Given the description of an element on the screen output the (x, y) to click on. 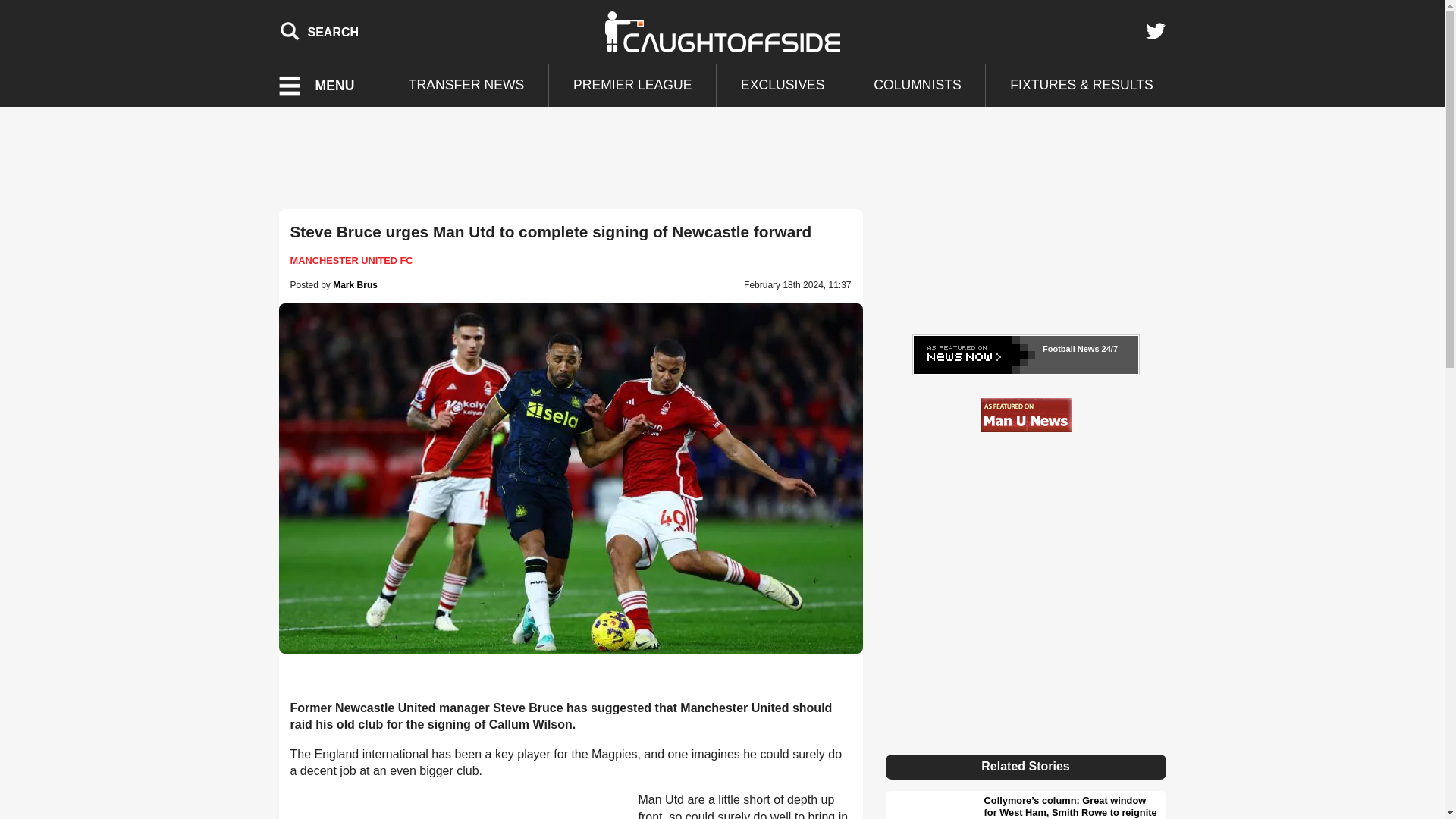
Search (319, 30)
PREMIER LEAGUE (632, 85)
Twitter (1155, 30)
EXCLUSIVES (782, 85)
TRANSFER NEWS (466, 85)
Menu (325, 85)
